Given the description of an element on the screen output the (x, y) to click on. 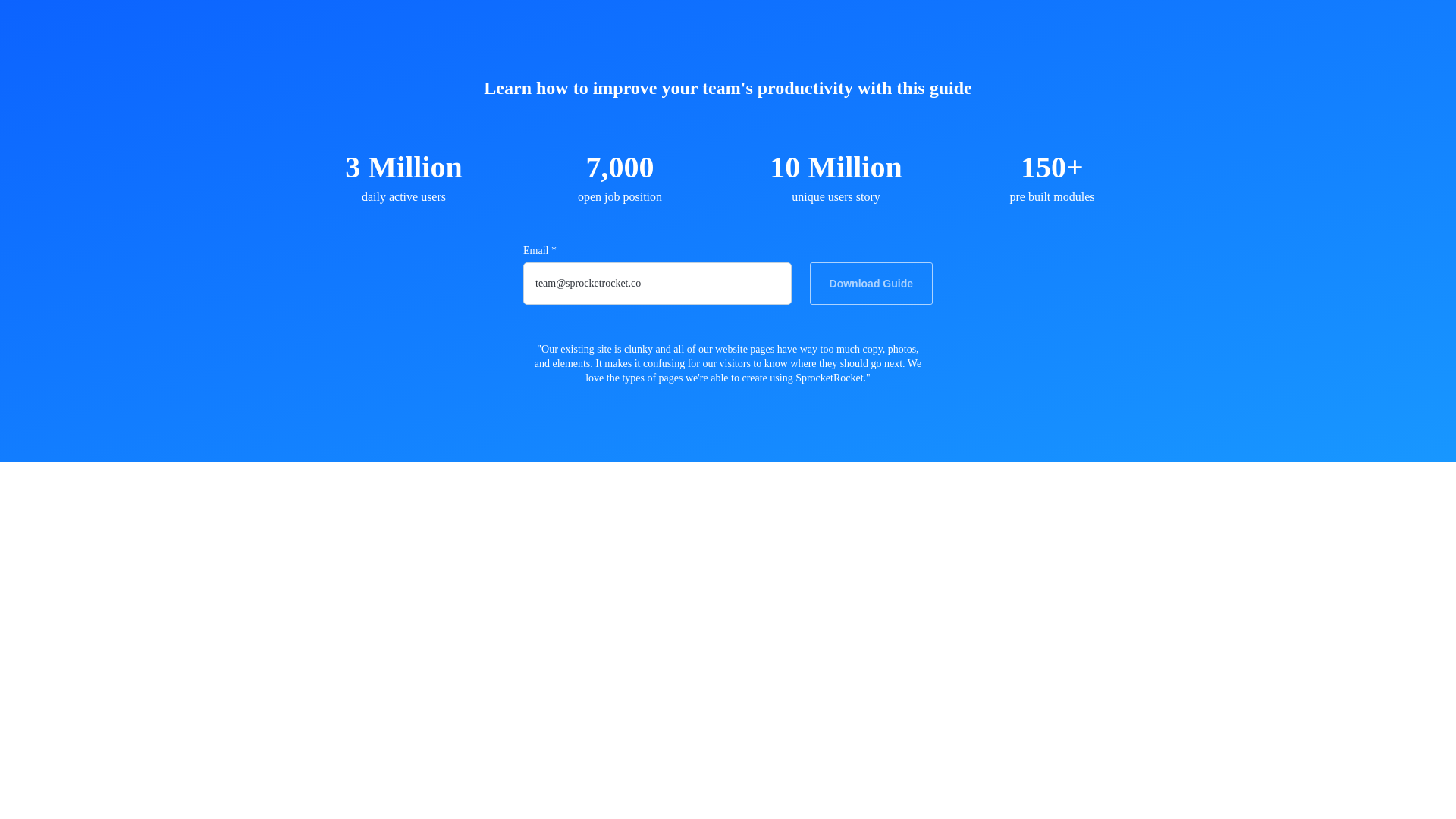
Download Guide (871, 283)
Download Guide (871, 283)
